Given the description of an element on the screen output the (x, y) to click on. 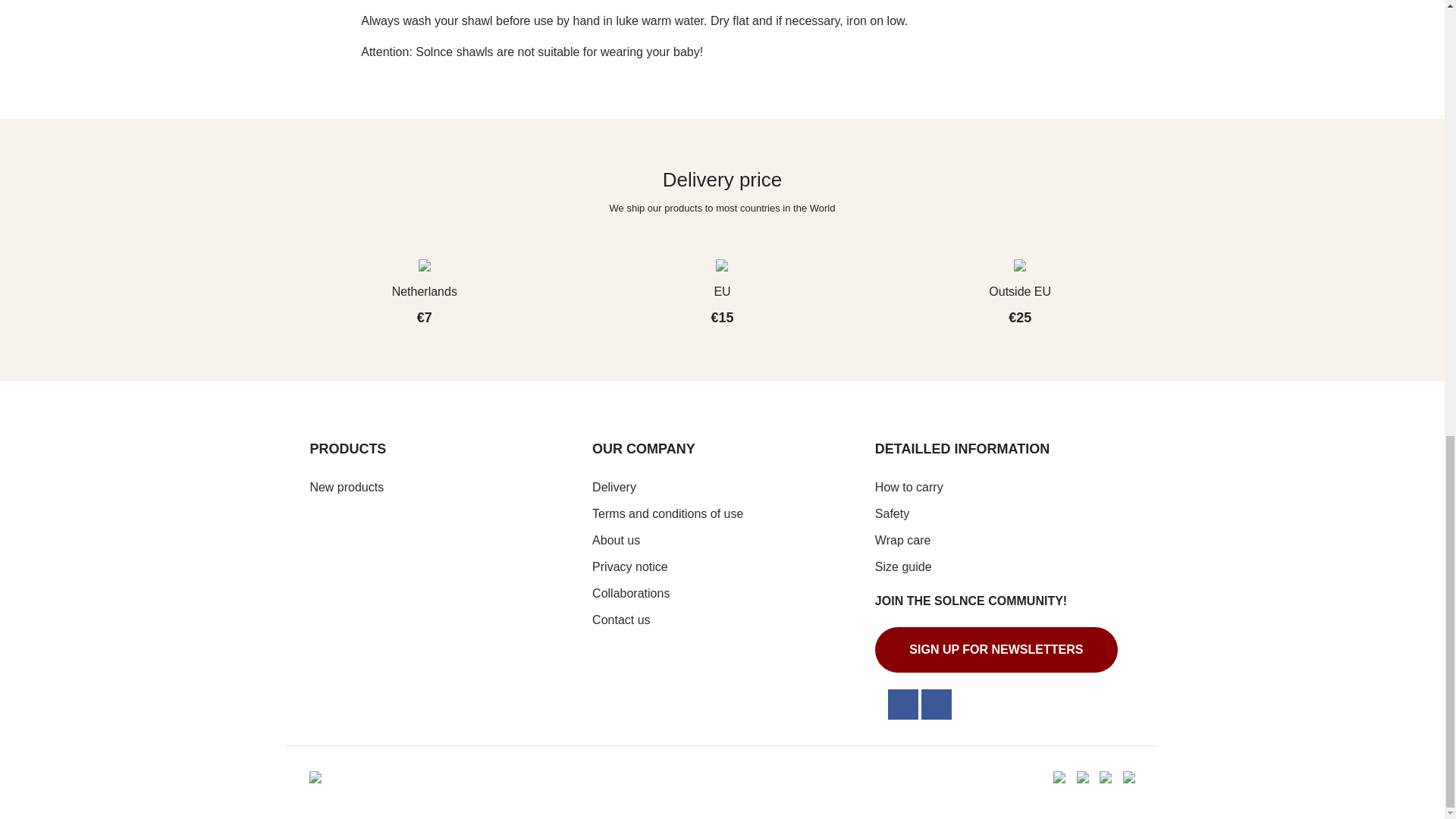
Our new products (346, 486)
Our terms and conditions of delivery (614, 486)
Delivery (614, 486)
Terms and conditions of use (667, 513)
Privacy notice (630, 566)
Collaborations (630, 593)
New products (346, 486)
About us (616, 540)
Use our form to contact us (620, 619)
How to carry (909, 486)
